Given the description of an element on the screen output the (x, y) to click on. 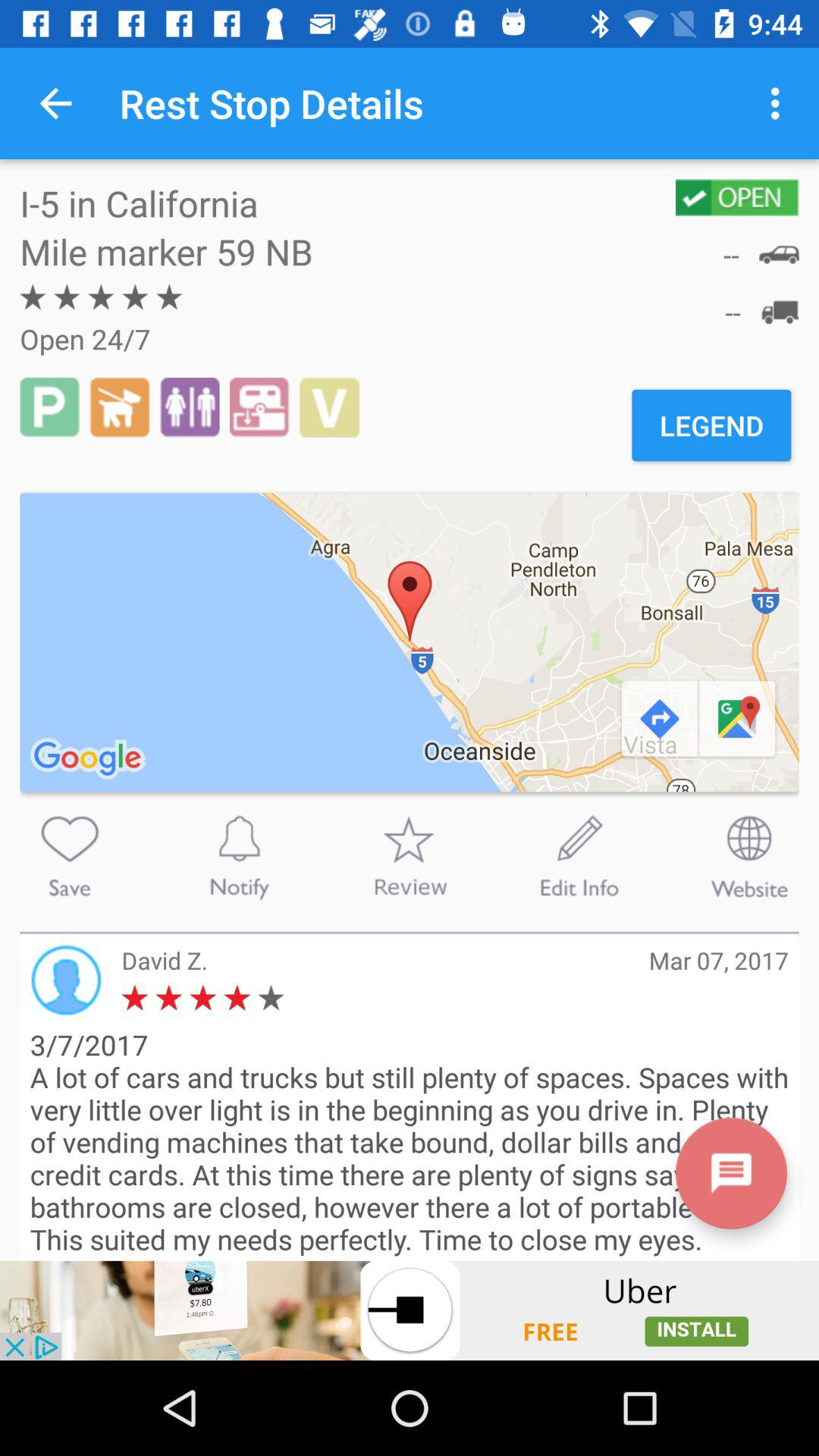
bell button (238, 856)
